Given the description of an element on the screen output the (x, y) to click on. 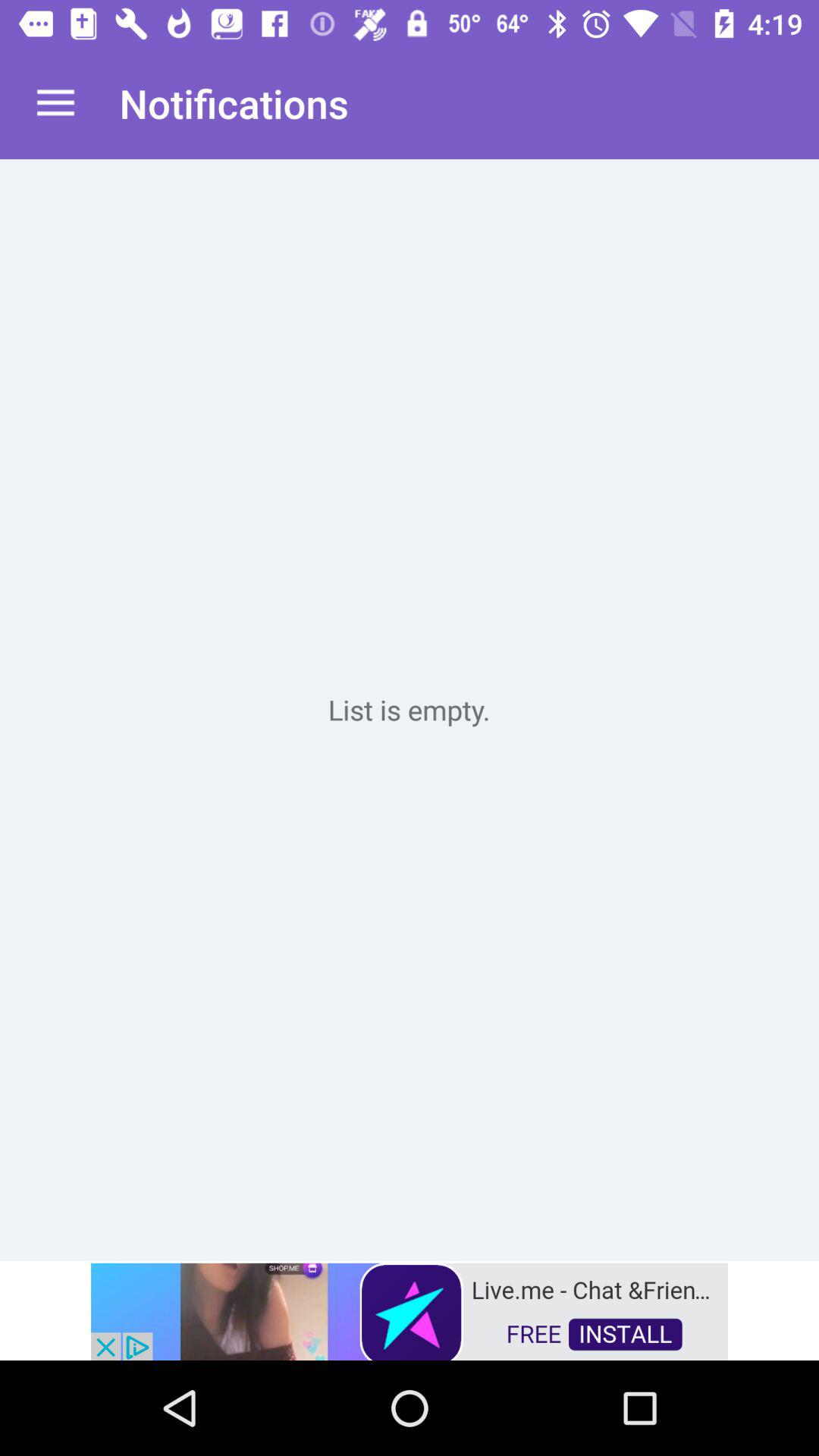
add item (409, 709)
